Given the description of an element on the screen output the (x, y) to click on. 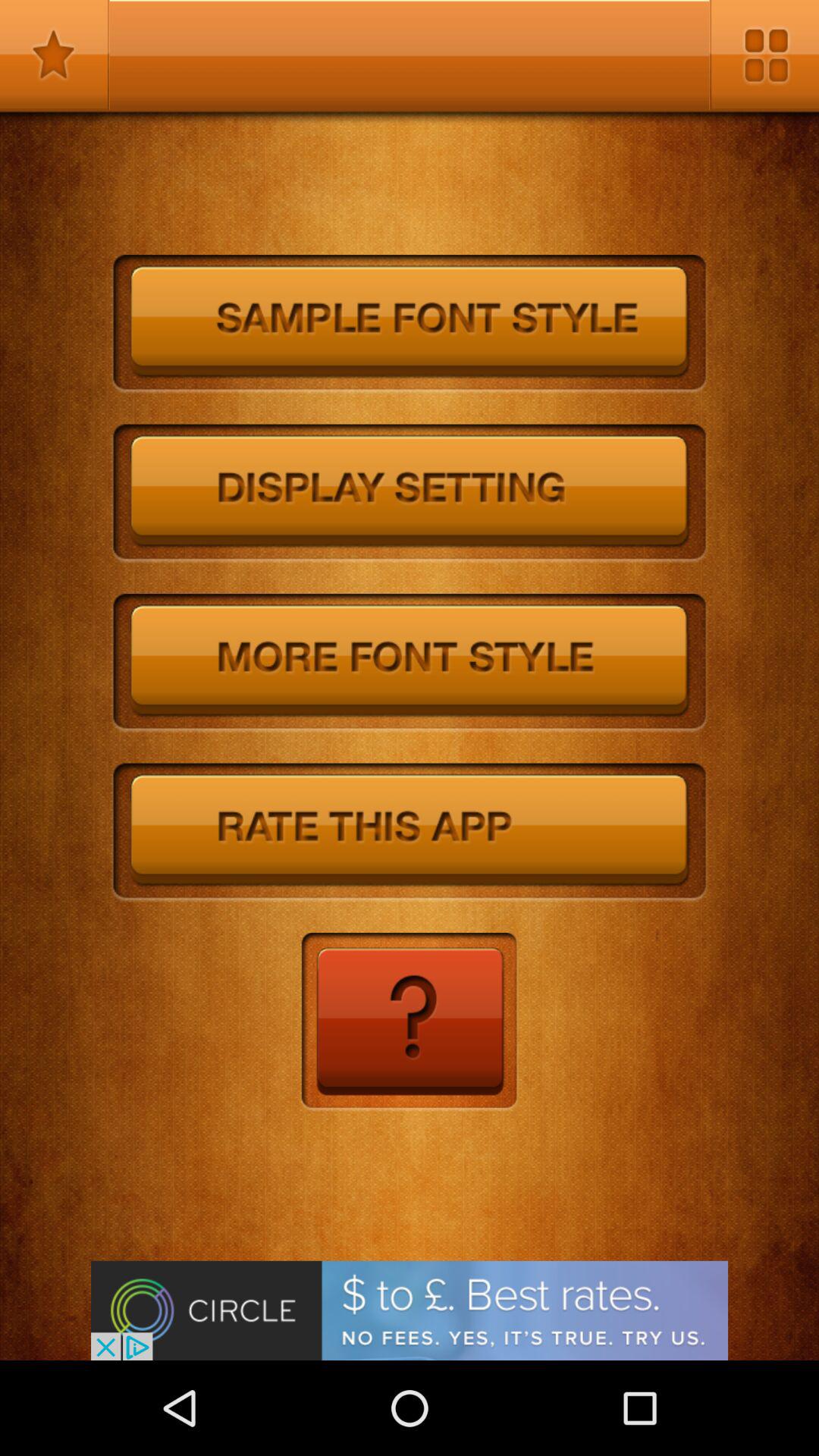
view this advertisement (409, 1310)
